Given the description of an element on the screen output the (x, y) to click on. 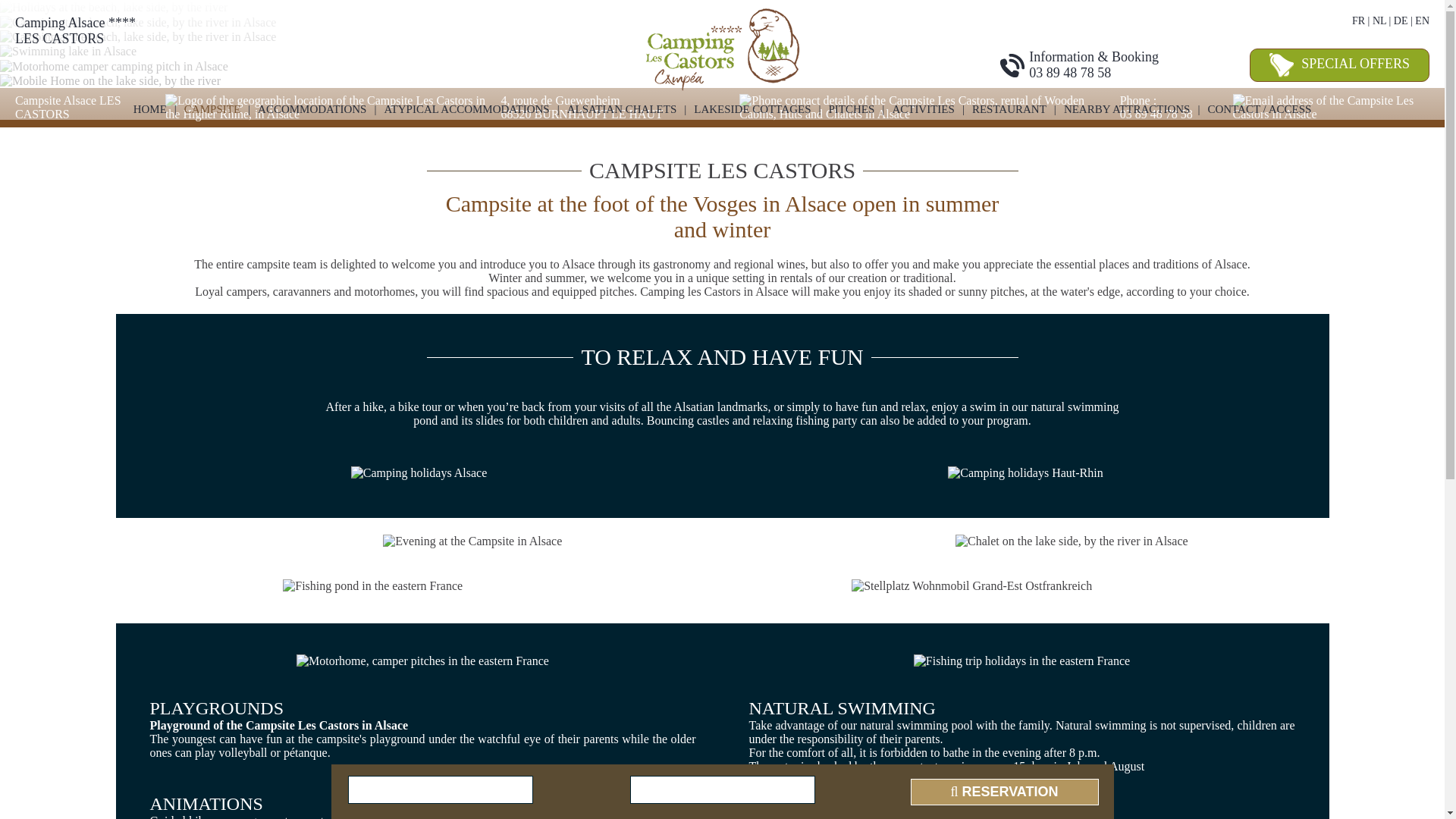
DE (1400, 20)
CAMPSITE (212, 109)
PITCHES (851, 109)
ALSATIAN CHALETS (622, 109)
LAKESIDE COTTAGES (752, 109)
ACCOMMODATIONS (311, 109)
ACTIVITIES (923, 109)
ATYPICAL ACCOMMODATIONS (466, 109)
HOME (150, 109)
NEARBY ATTRACTIONS (1127, 109)
